Given the description of an element on the screen output the (x, y) to click on. 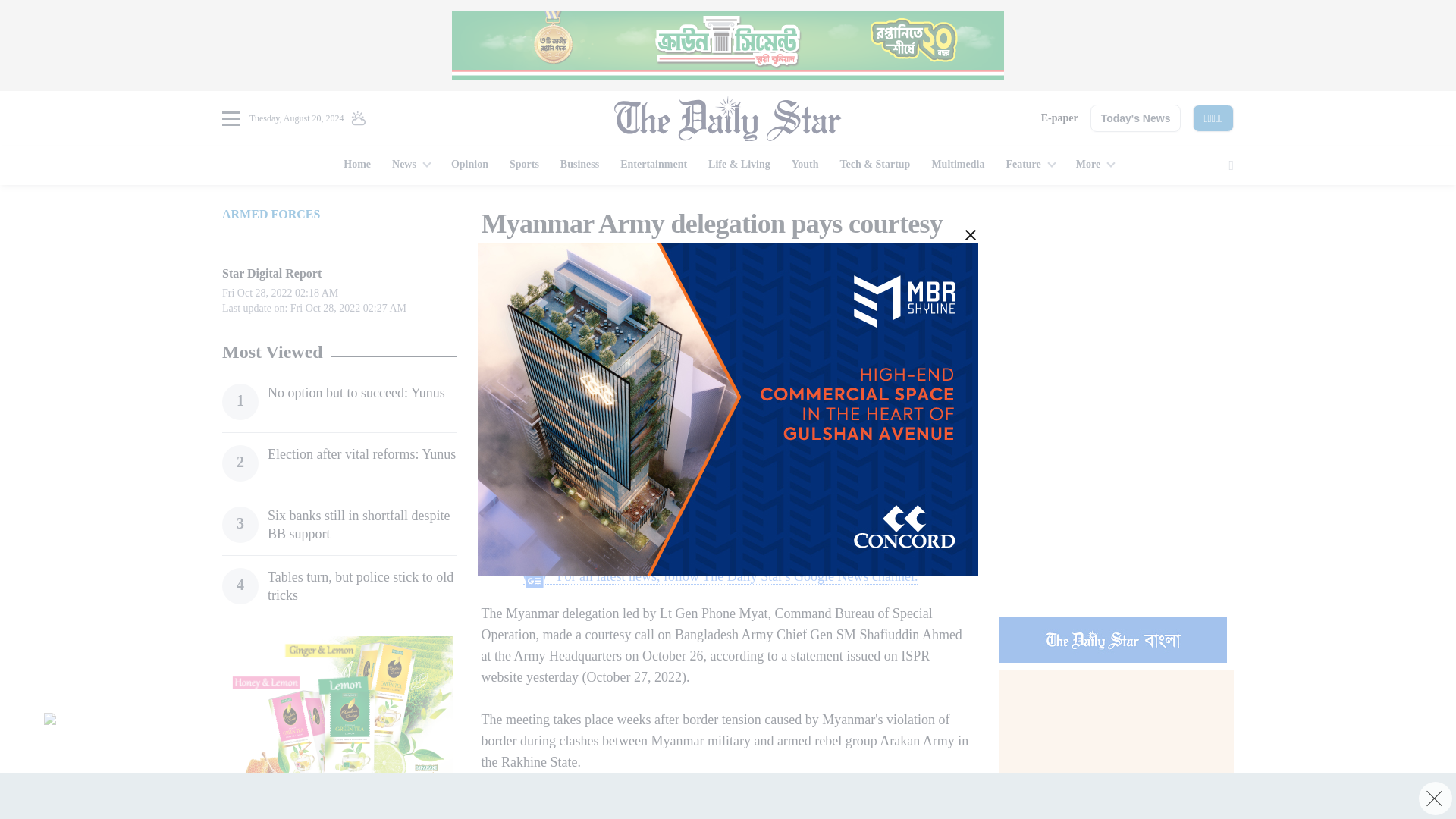
3rd party ad content (727, 45)
3rd party ad content (1116, 506)
Sports (524, 165)
Business (579, 165)
Feature (1028, 165)
3rd party ad content (720, 806)
3rd party ad content (338, 727)
Today's News (1135, 117)
Opinion (469, 165)
3rd party ad content (720, 462)
